Given the description of an element on the screen output the (x, y) to click on. 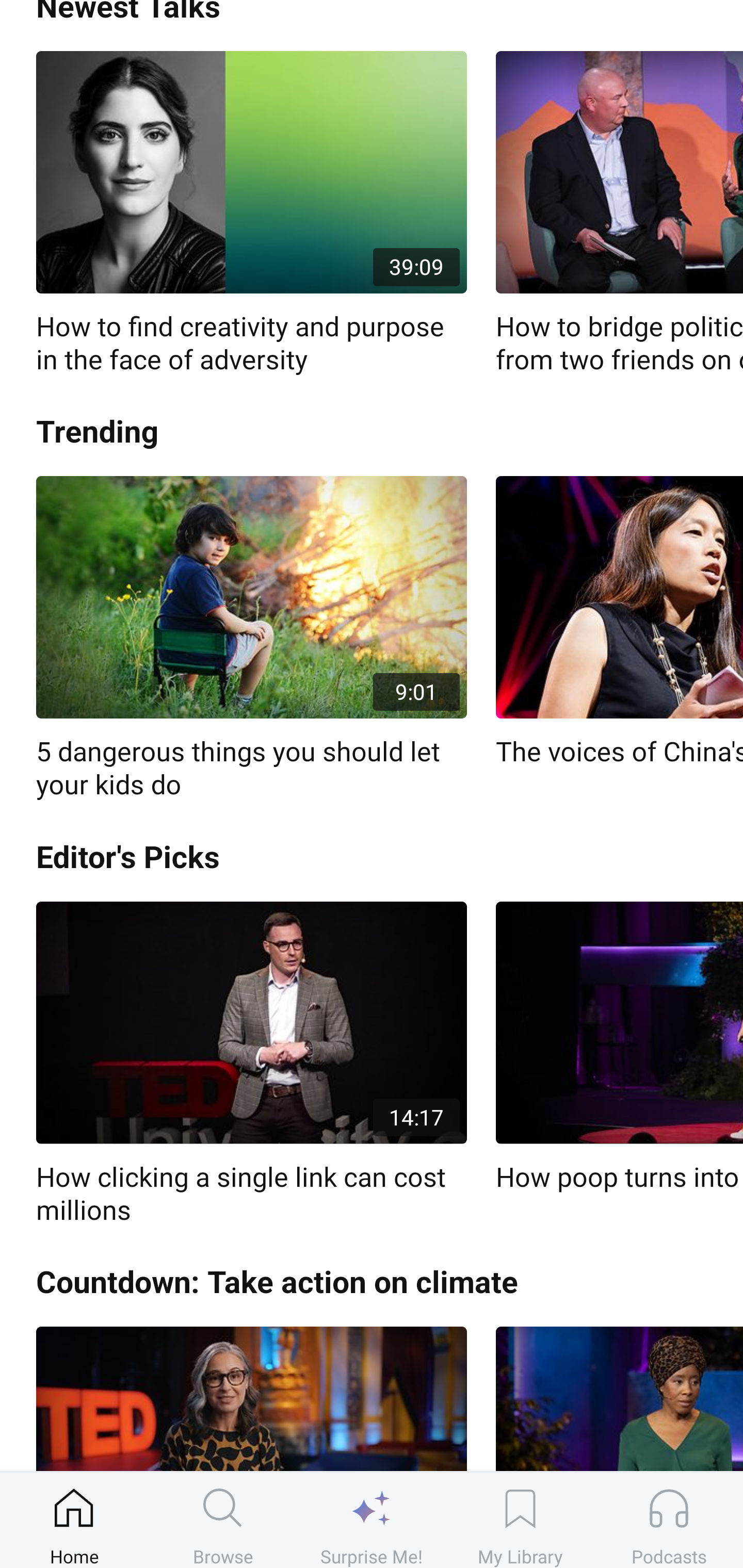
The voices of China's workers (619, 622)
14:17 How clicking a single link can cost millions (251, 1064)
How poop turns into forests (619, 1047)
Home (74, 1520)
Browse (222, 1520)
Surprise Me! (371, 1520)
My Library (519, 1520)
Podcasts (668, 1520)
